Given the description of an element on the screen output the (x, y) to click on. 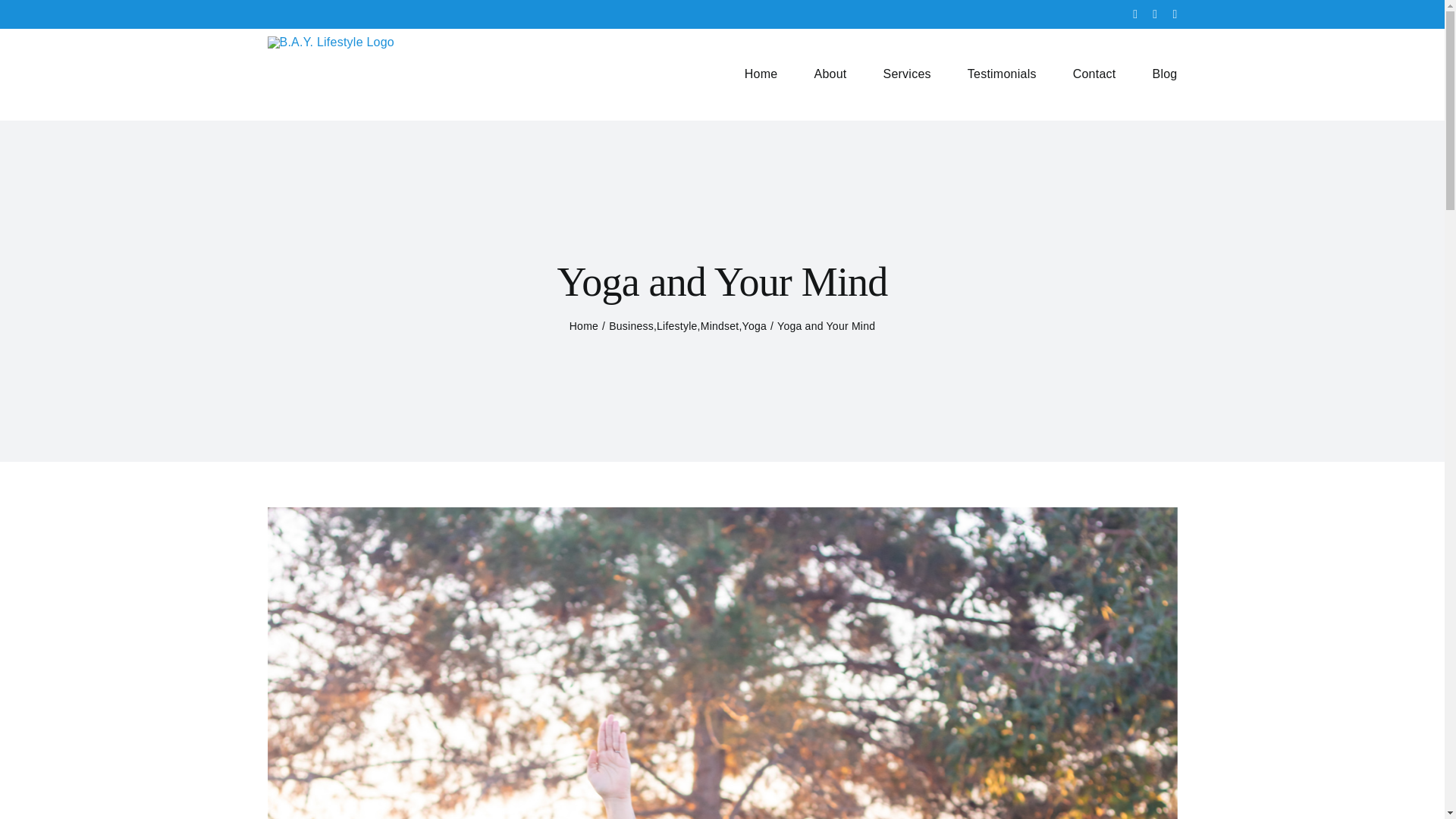
Mindset (719, 326)
Business (630, 326)
Yoga (754, 326)
Lifestyle (676, 326)
Home (583, 326)
